Given the description of an element on the screen output the (x, y) to click on. 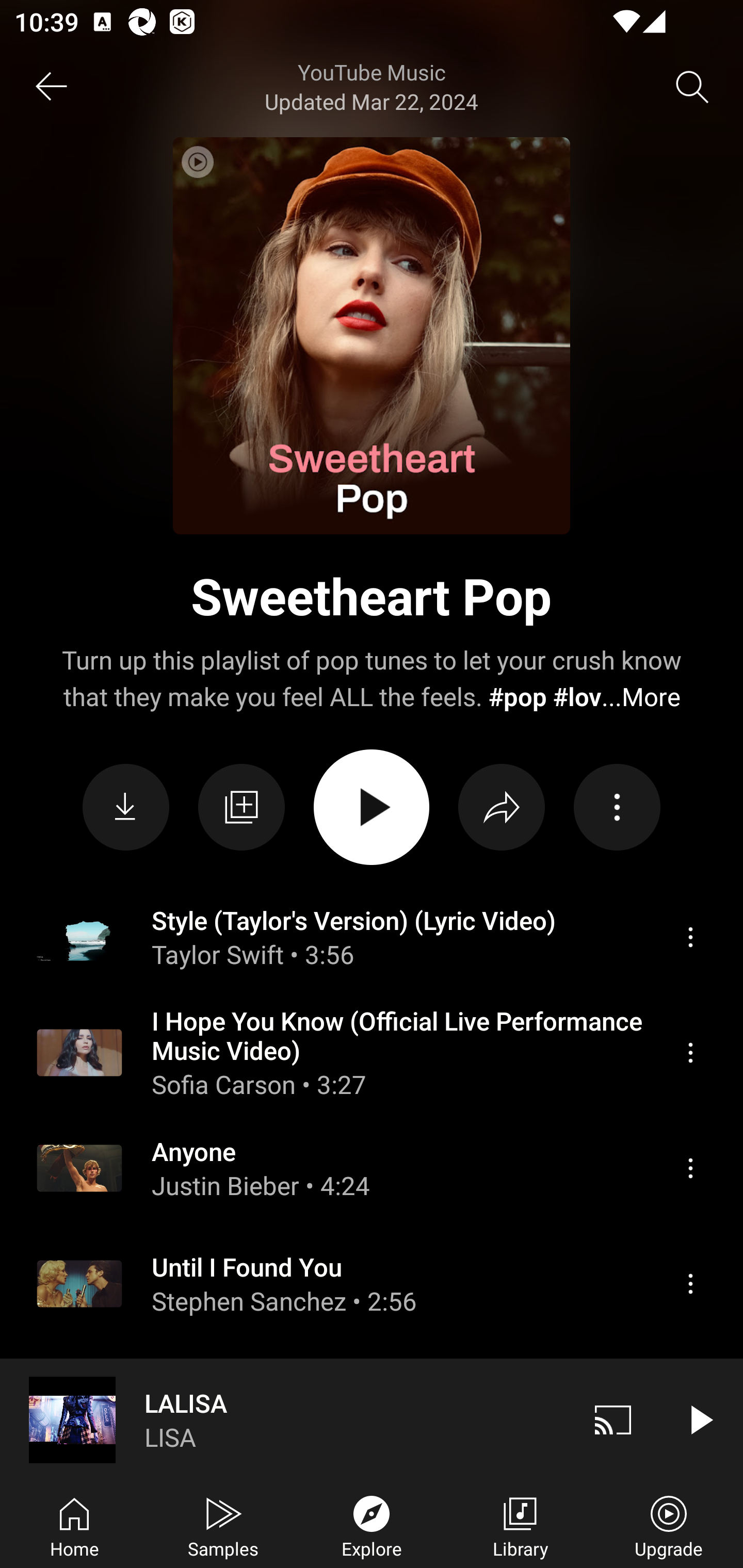
Back (50, 86)
Search (692, 86)
PLAY ALL (371, 807)
Download (125, 807)
Save to library (241, 807)
Share (501, 807)
Action menu (616, 807)
Menu (690, 937)
Menu (690, 1052)
Menu (690, 1168)
Menu (690, 1284)
LALISA LISA (284, 1419)
Cast. Disconnected (612, 1419)
Play video (699, 1419)
Menu (690, 1479)
Home (74, 1524)
Samples (222, 1524)
Library (519, 1524)
Upgrade (668, 1524)
